Given the description of an element on the screen output the (x, y) to click on. 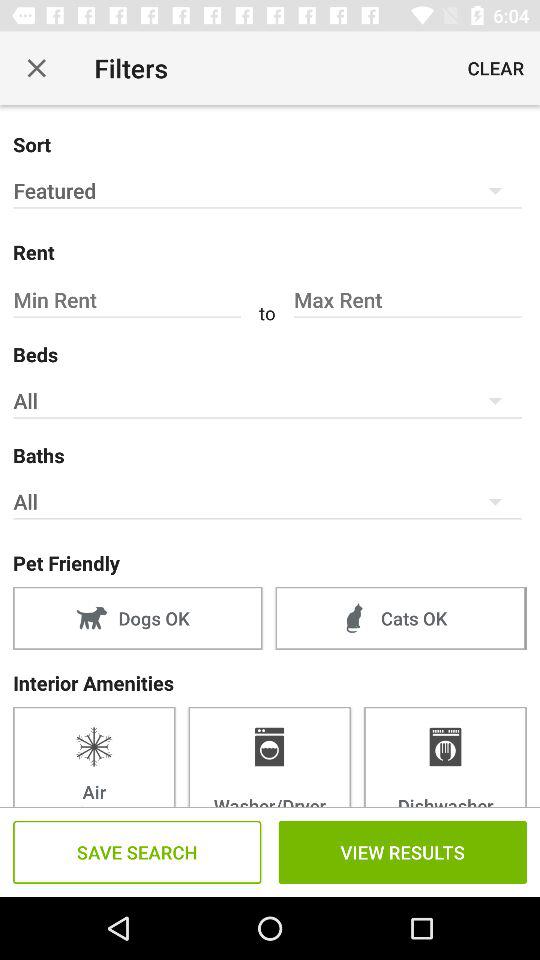
launch item below interior amenities icon (445, 756)
